Given the description of an element on the screen output the (x, y) to click on. 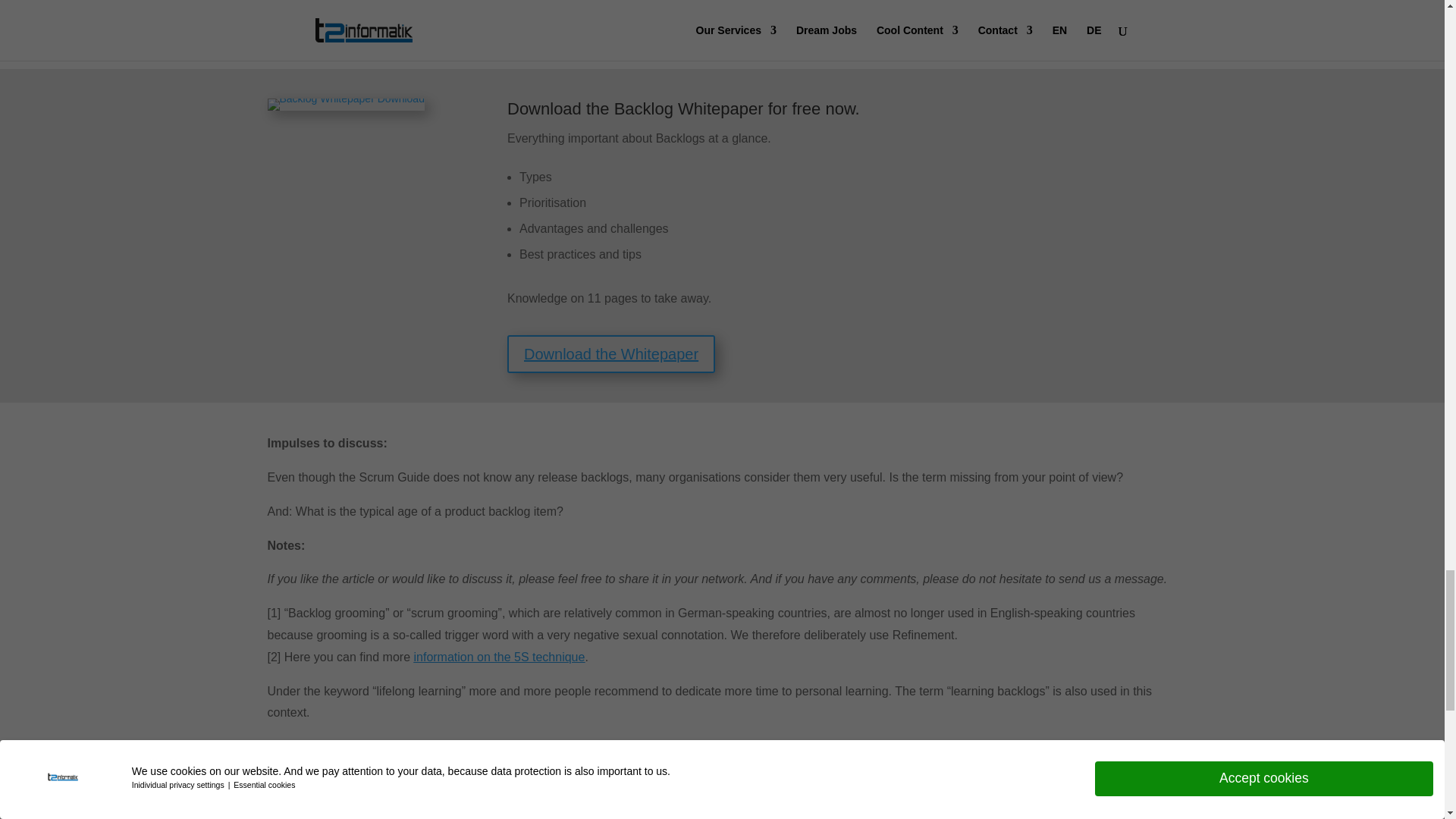
Backlog Whitepaper Download (344, 104)
